Given the description of an element on the screen output the (x, y) to click on. 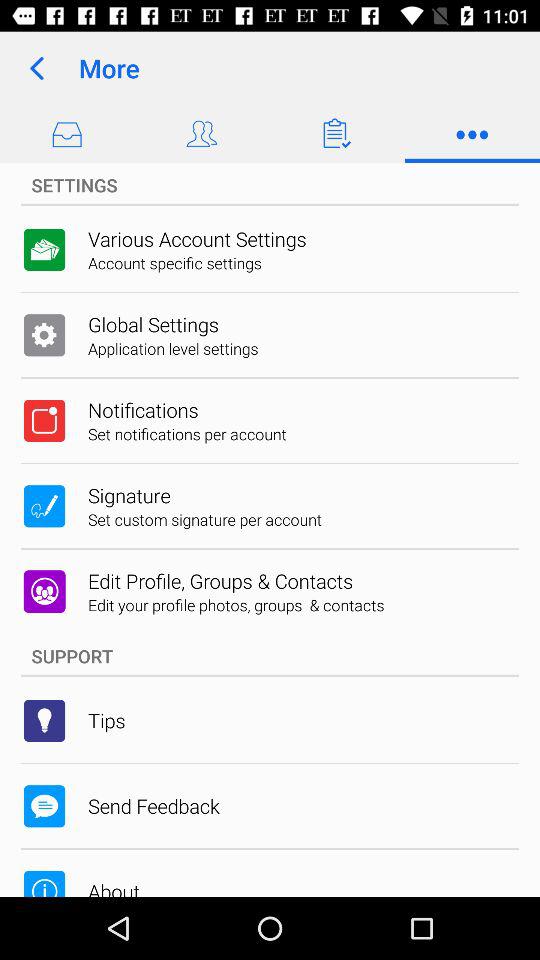
turn on the item at the bottom (270, 656)
